Given the description of an element on the screen output the (x, y) to click on. 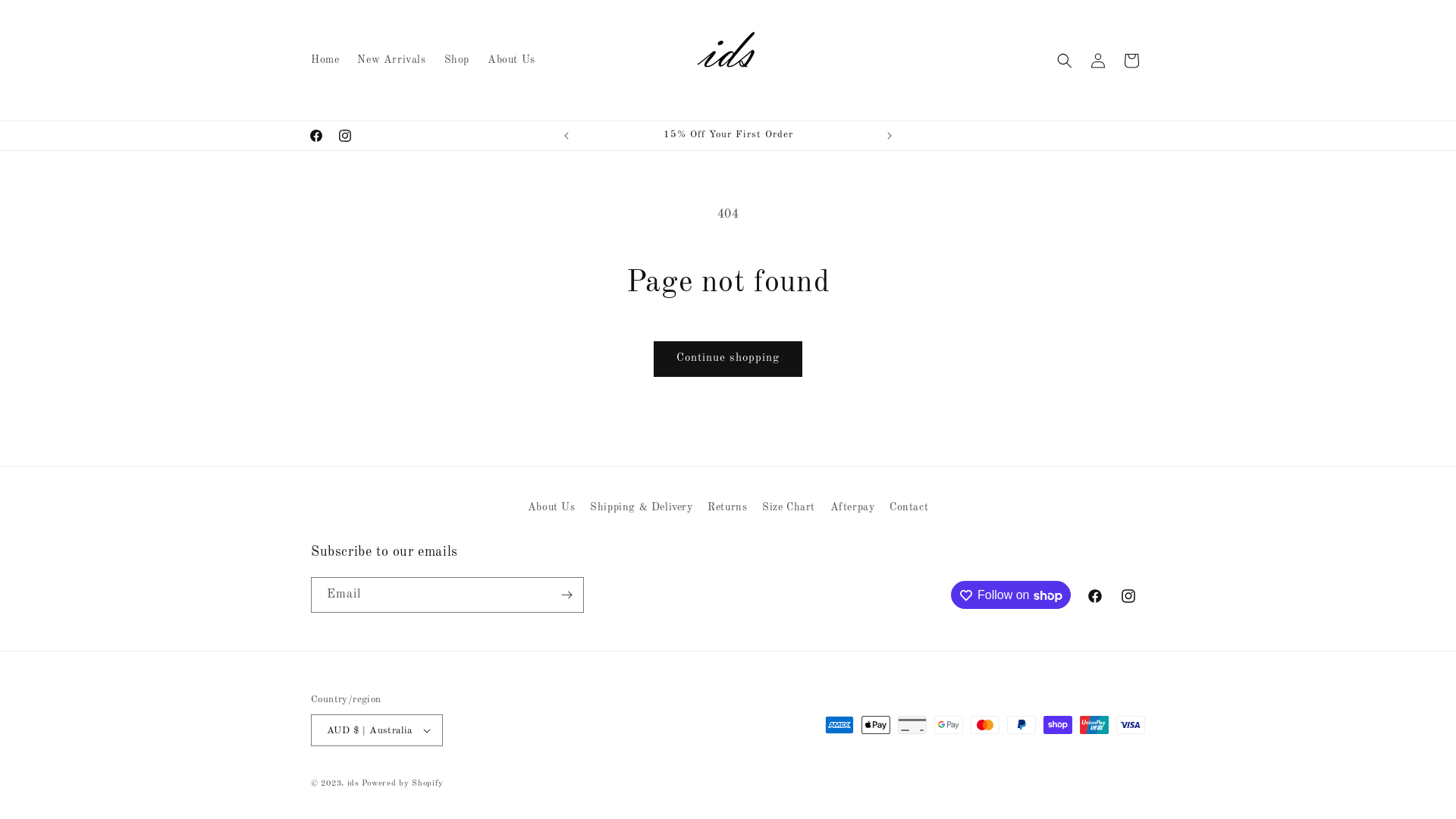
About Us Element type: text (511, 59)
Size Chart Element type: text (788, 507)
Returns Element type: text (726, 507)
Instagram Element type: text (1128, 595)
Facebook Element type: text (1094, 595)
Facebook Element type: text (315, 135)
AUD $ | Australia Element type: text (376, 730)
Cart Element type: text (1131, 60)
Continue shopping Element type: text (727, 358)
Powered by Shopify Element type: text (402, 783)
Log in Element type: text (1097, 60)
ids Element type: text (353, 783)
Afterpay Element type: text (852, 507)
Instagram Element type: text (344, 135)
Home Element type: text (324, 59)
Shipping & Delivery Element type: text (640, 507)
Shop Element type: text (456, 59)
New Arrivals Element type: text (391, 59)
About Us Element type: text (551, 509)
Contact Element type: text (908, 507)
